Given the description of an element on the screen output the (x, y) to click on. 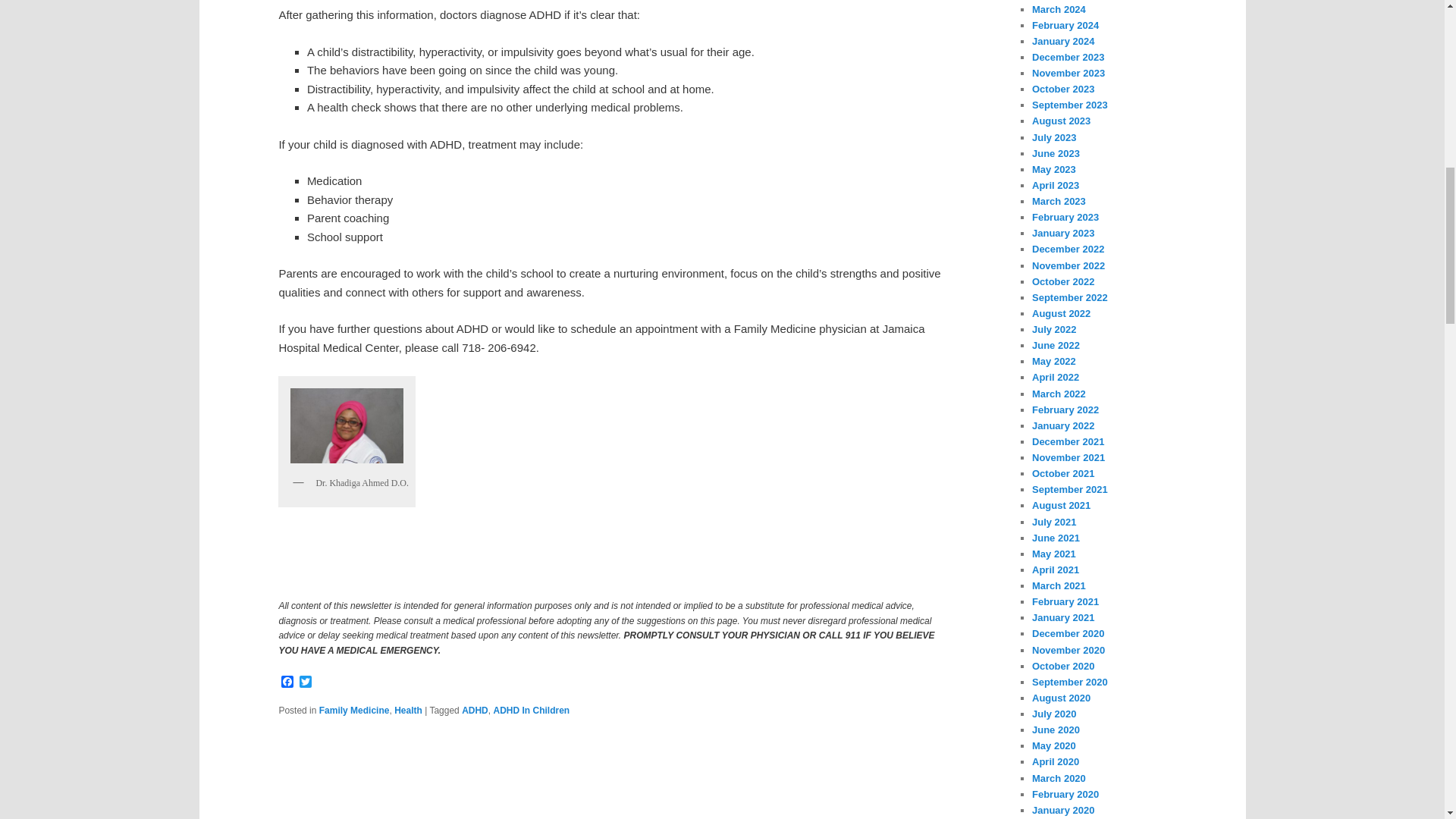
October 2023 (1063, 89)
ADHD (474, 710)
Twitter (305, 682)
September 2023 (1070, 104)
March 2024 (1059, 9)
December 2023 (1067, 57)
ADHD In Children (531, 710)
Health (408, 710)
January 2024 (1063, 41)
Facebook (287, 682)
August 2023 (1061, 120)
July 2023 (1054, 137)
February 2024 (1065, 25)
Family Medicine (354, 710)
Twitter (305, 682)
